Given the description of an element on the screen output the (x, y) to click on. 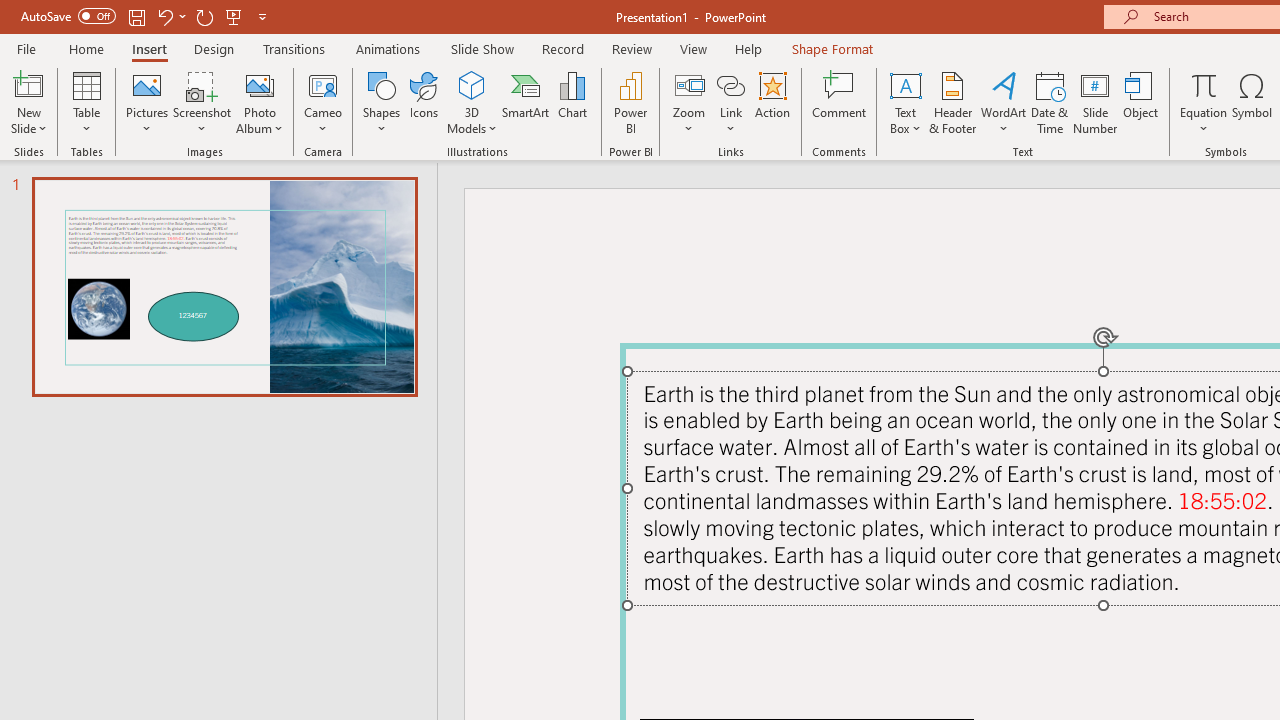
Icons (424, 102)
Slide Number (1095, 102)
Date & Time... (1050, 102)
